Given the description of an element on the screen output the (x, y) to click on. 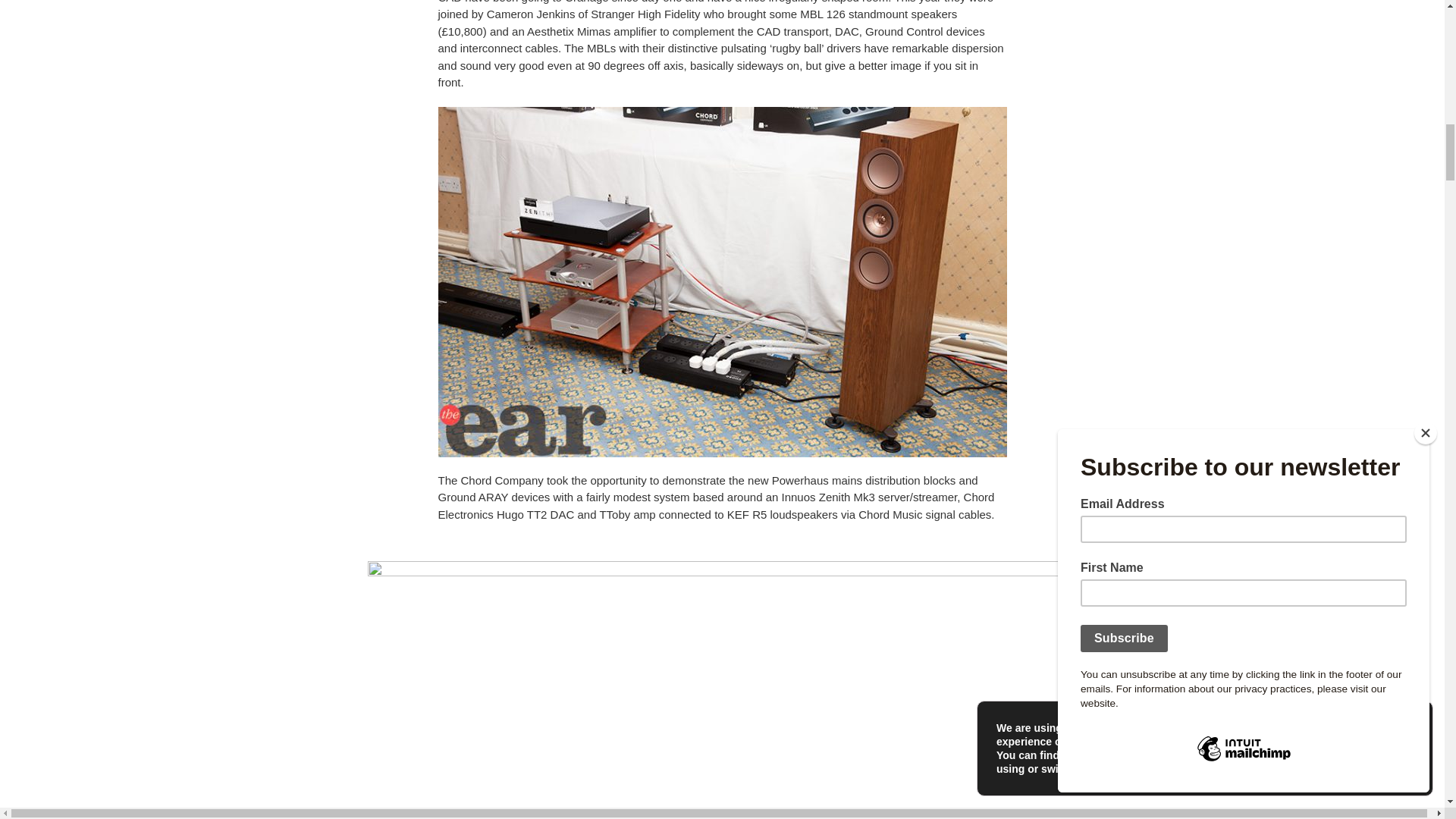
North West Audio Show 2022 pt.1 4 (722, 765)
